Given the description of an element on the screen output the (x, y) to click on. 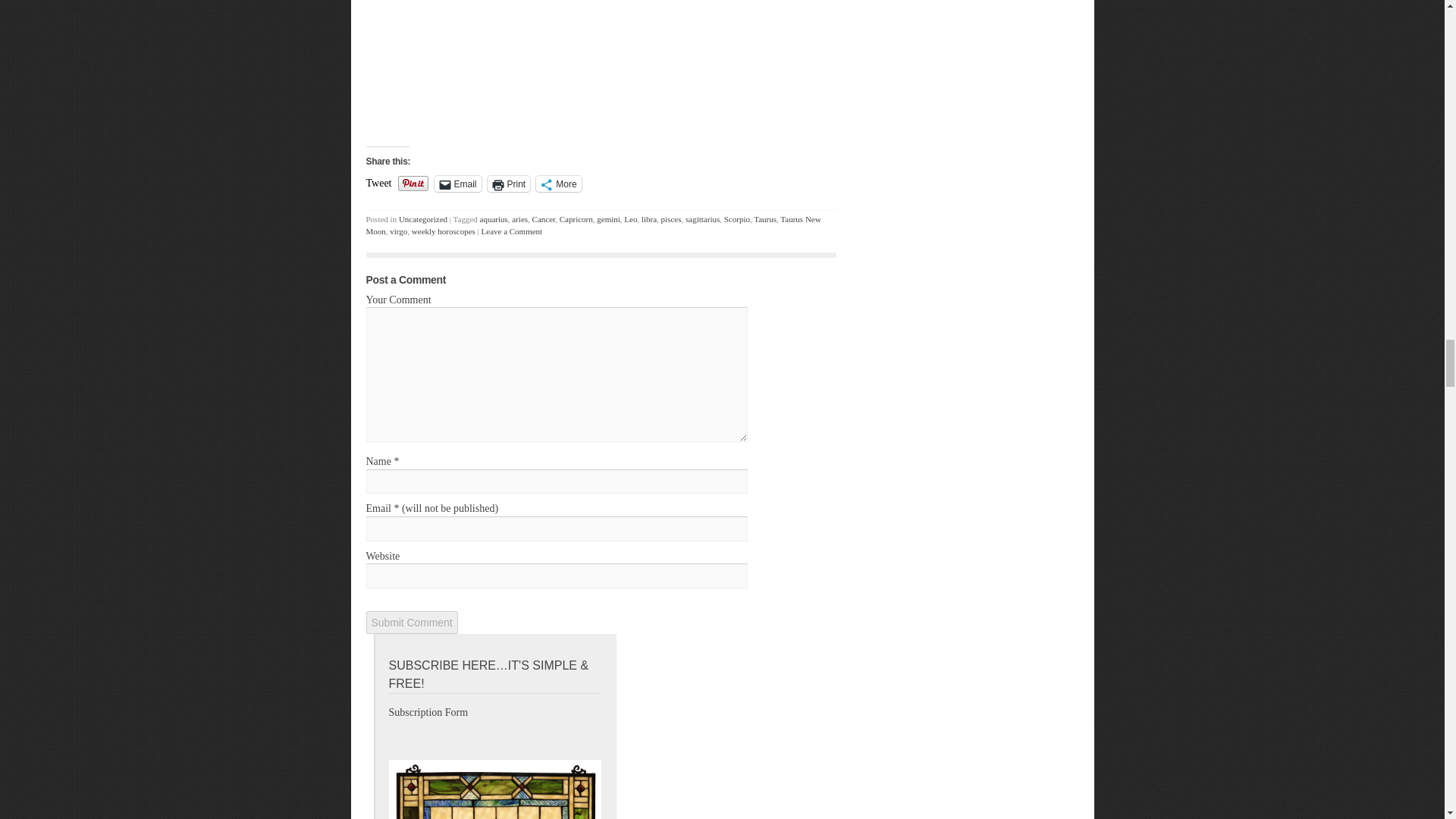
Print (509, 183)
Tweet (378, 182)
Click to email a link to a friend (457, 183)
Taurus New Moon (593, 224)
sagittarius (702, 218)
gemini (608, 218)
Uncategorized (422, 218)
libra (649, 218)
aries (519, 218)
Capricorn (575, 218)
aquarius (494, 218)
pisces (671, 218)
Email (457, 183)
Click to print (509, 183)
Cancer (544, 218)
